Given the description of an element on the screen output the (x, y) to click on. 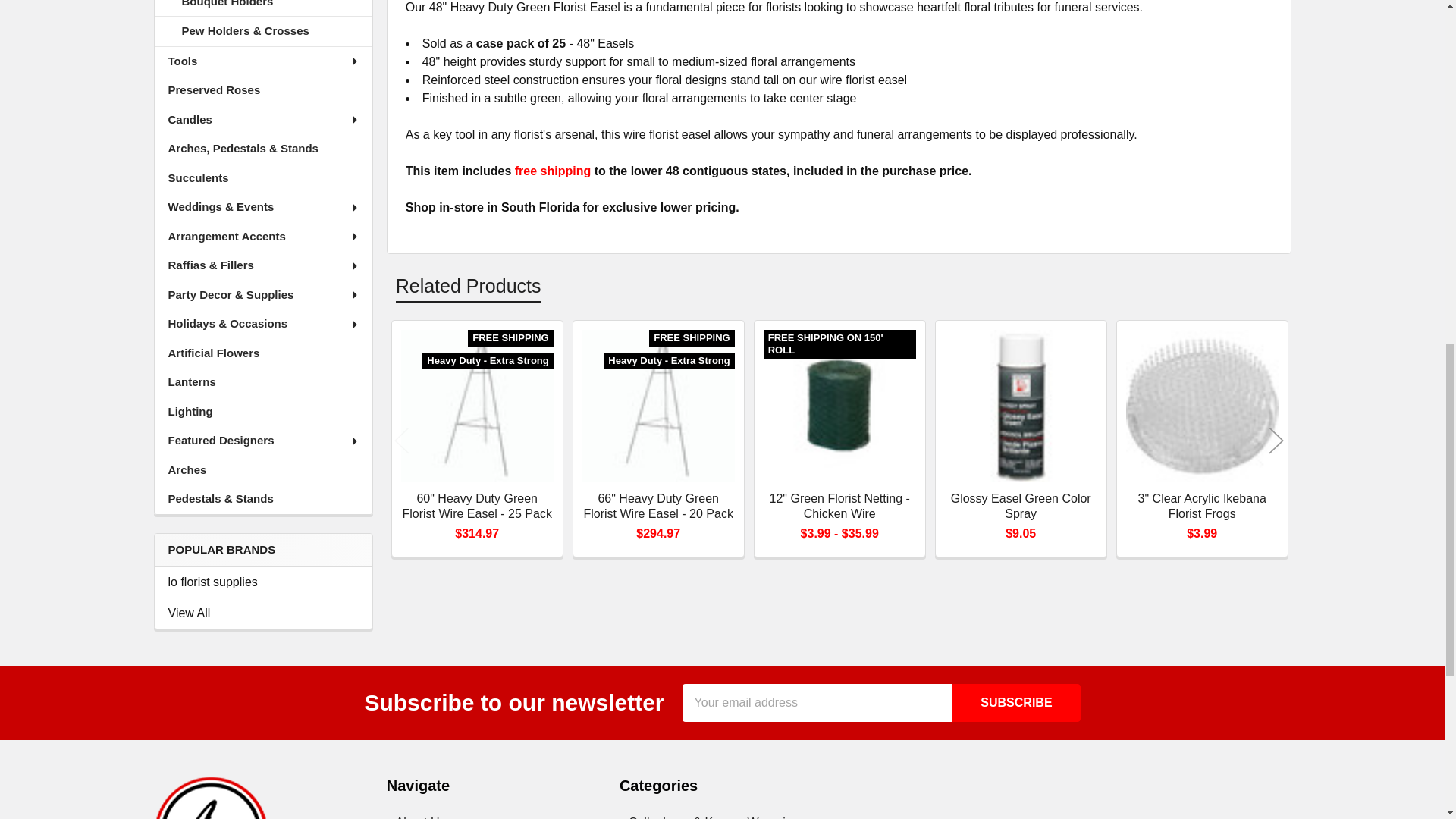
lo florist supplies (263, 582)
60" Heavy Duty Green Florist Wire Easel - 25 Pack (477, 406)
Subscribe (1016, 702)
12" Green Florist Netting - Chicken Wire (838, 406)
66" Heavy Duty Green Florist Wire Easel - 20 Pack (658, 406)
Glossy Easel Green Color Spray (1020, 406)
